Given the description of an element on the screen output the (x, y) to click on. 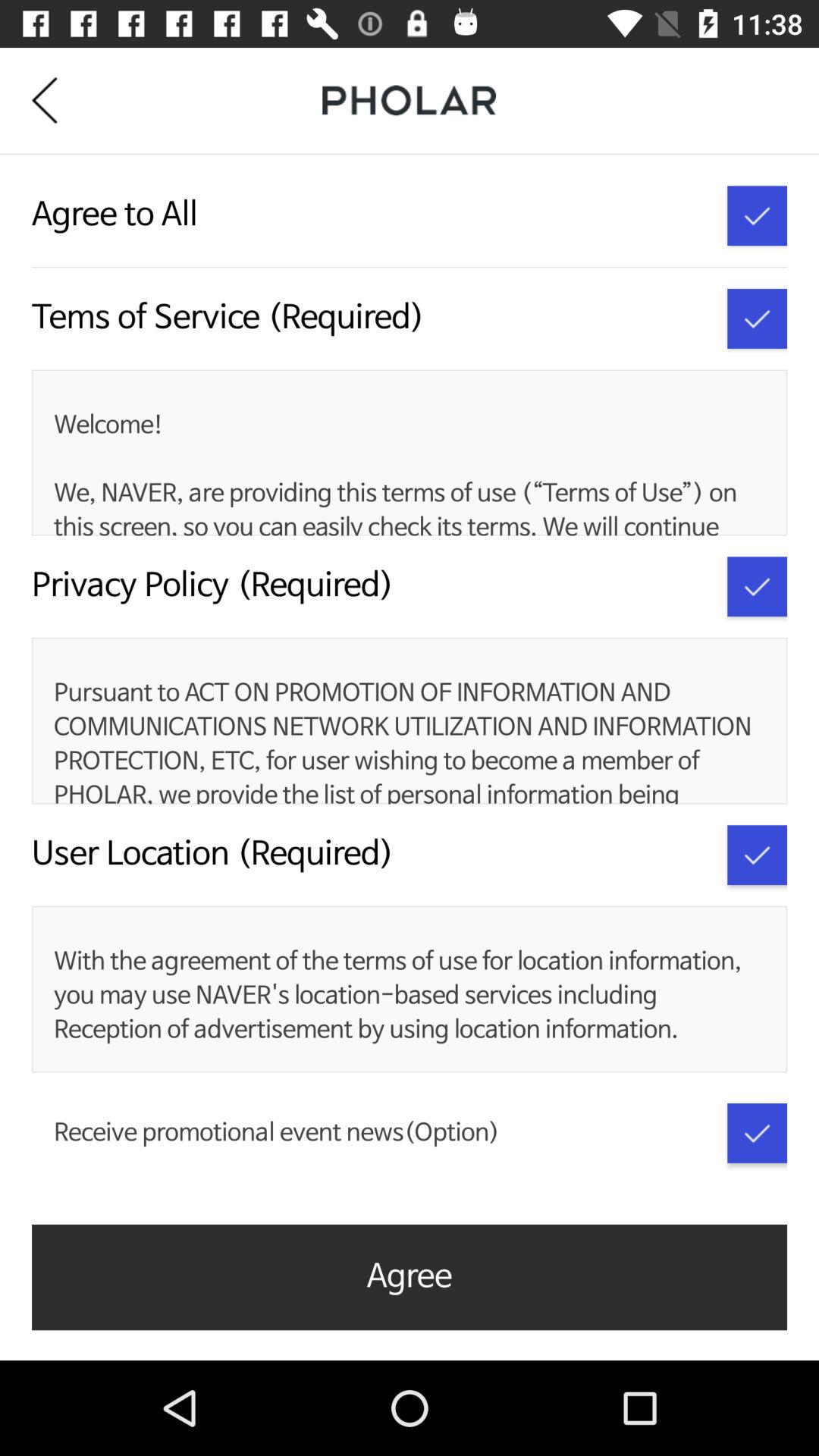
toggle terms of service acceptance (757, 318)
